Given the description of an element on the screen output the (x, y) to click on. 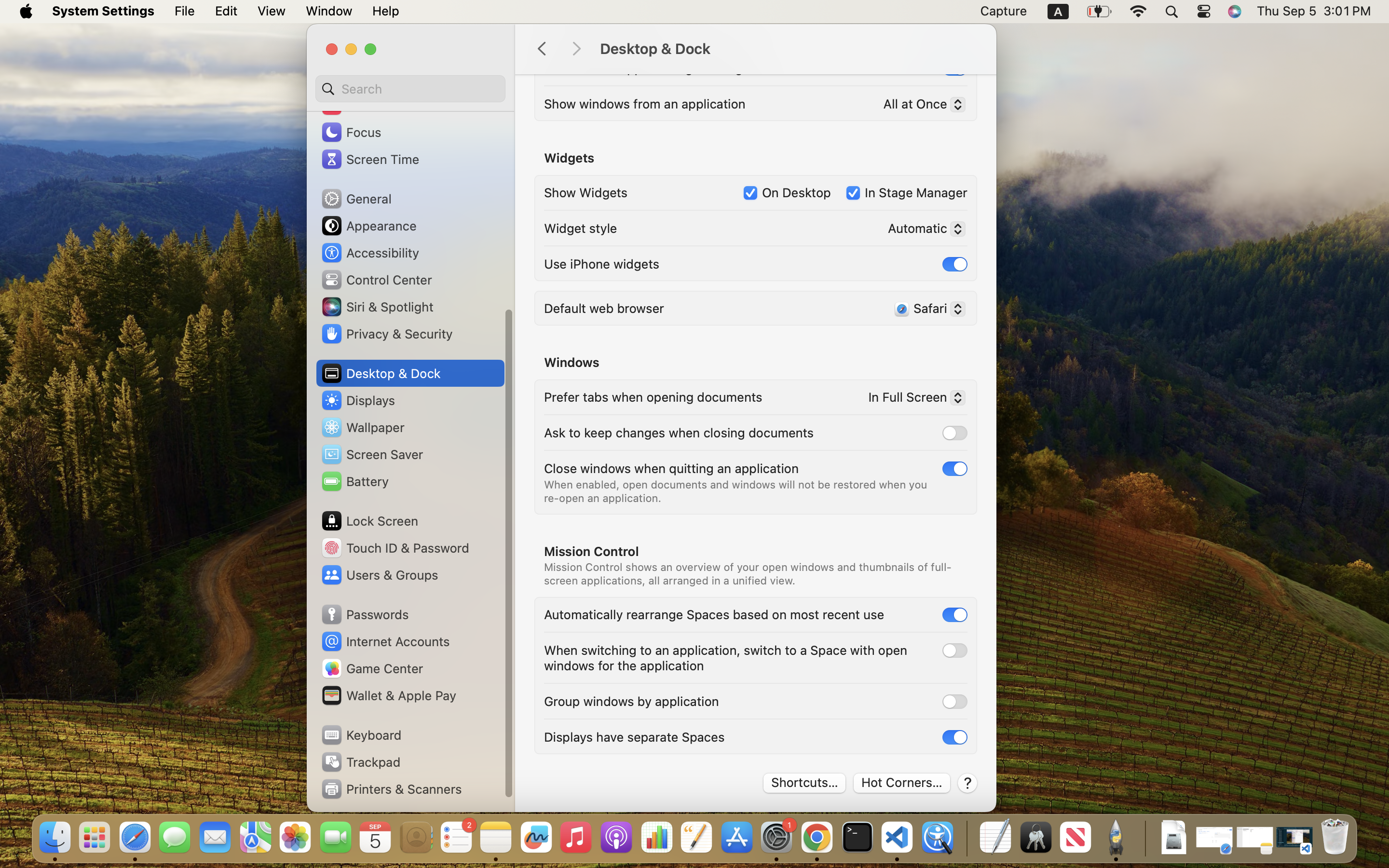
Keyboard Element type: AXStaticText (360, 734)
Displays have separate Spaces Element type: AXStaticText (634, 736)
Widget style Element type: AXStaticText (580, 227)
Stage Manager arranges your recent windows into a single strip for reduced clutter and quick access. Element type: AXStaticText (737, 25)
Focus Element type: AXStaticText (350, 131)
